Given the description of an element on the screen output the (x, y) to click on. 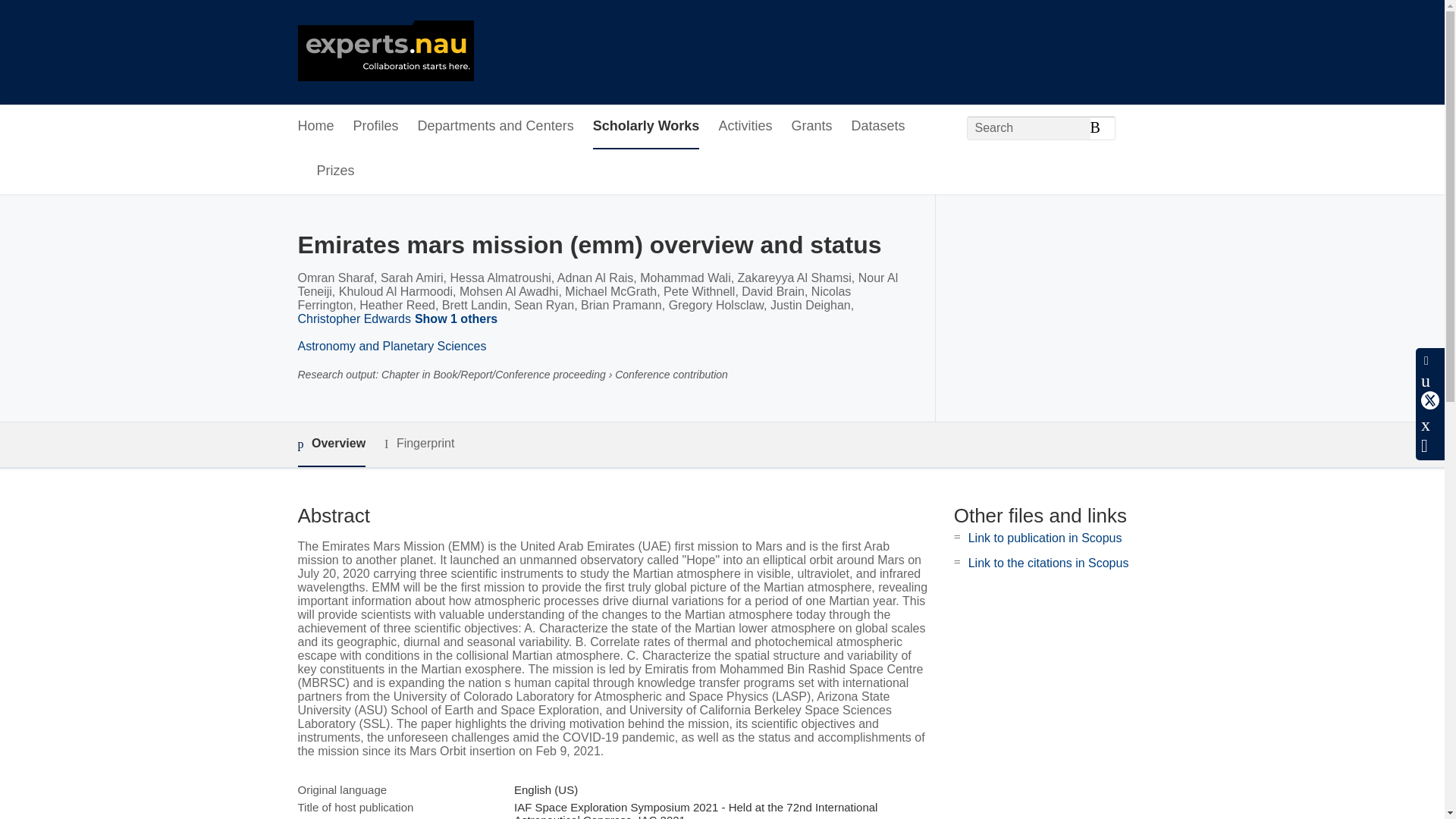
Activities (744, 126)
Show 1 others (458, 319)
Scholarly Works (646, 126)
Overview (331, 444)
Christopher Edwards (353, 318)
Astronomy and Planetary Sciences (391, 345)
Fingerprint (419, 444)
Northern Arizona University Home (385, 52)
Profiles (375, 126)
